Given the description of an element on the screen output the (x, y) to click on. 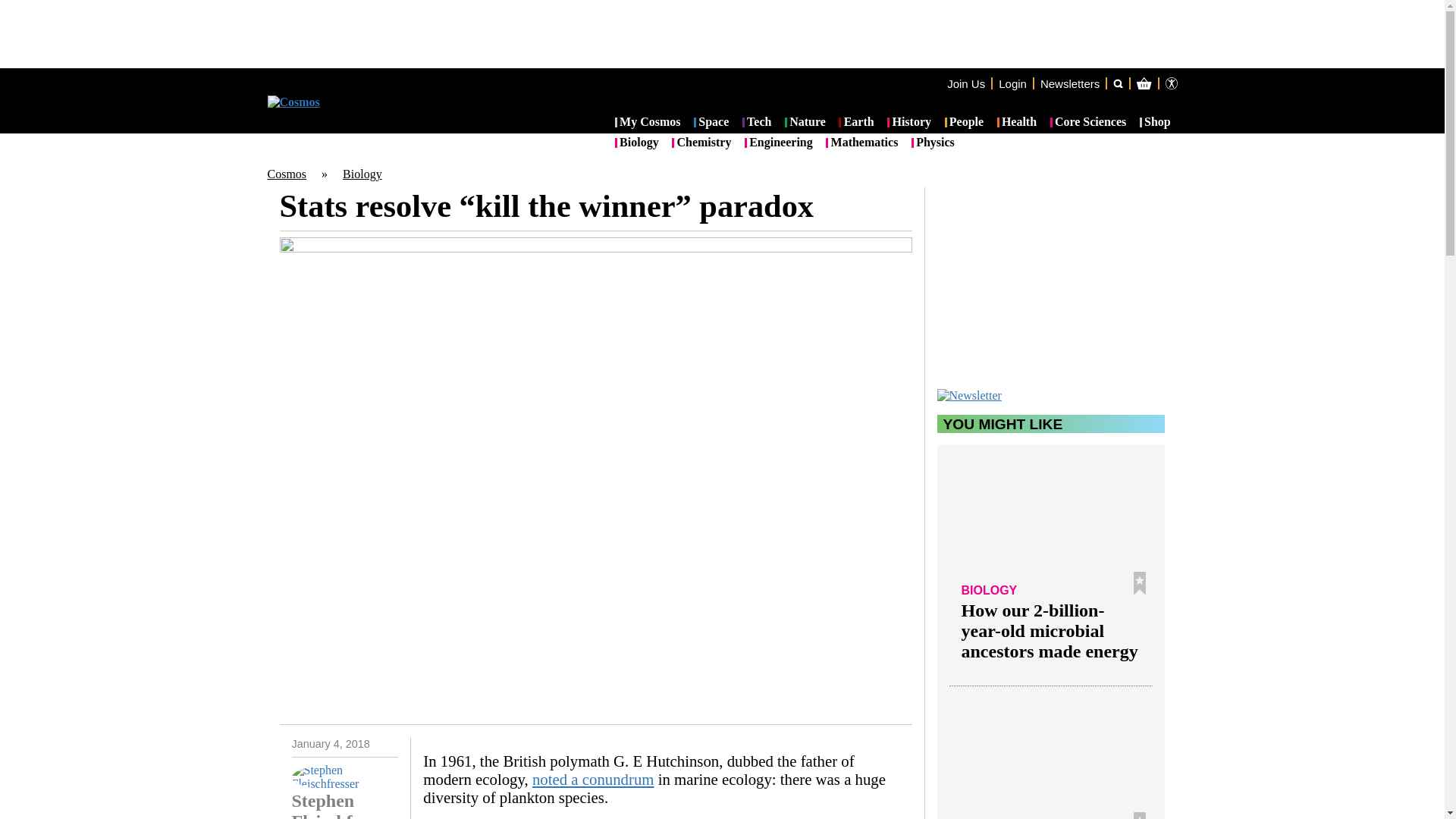
People (964, 122)
Shop (1155, 122)
My Cosmos (647, 122)
Nature (804, 122)
Biology (636, 143)
Physics (933, 143)
Join Us (966, 82)
Engineering (778, 143)
Login (1012, 82)
Mathematics (861, 143)
